Given the description of an element on the screen output the (x, y) to click on. 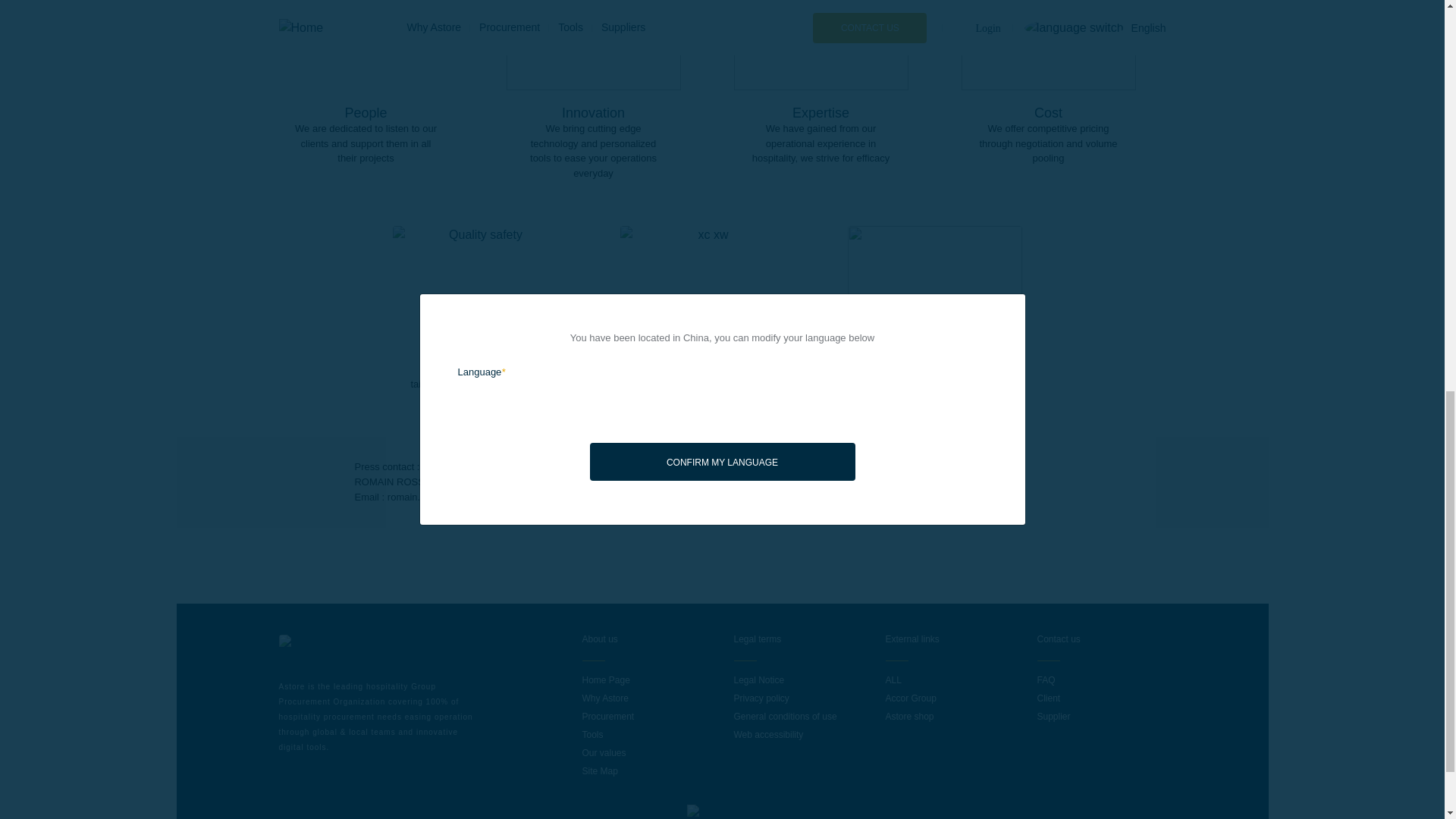
Procurement (608, 716)
Legal Notice (758, 679)
Home (312, 642)
Tools (593, 734)
ALL (893, 679)
Supplier (1053, 716)
Customer service (1045, 679)
Web accessibility (768, 734)
Home Page (606, 679)
FAQ (1045, 679)
